Given the description of an element on the screen output the (x, y) to click on. 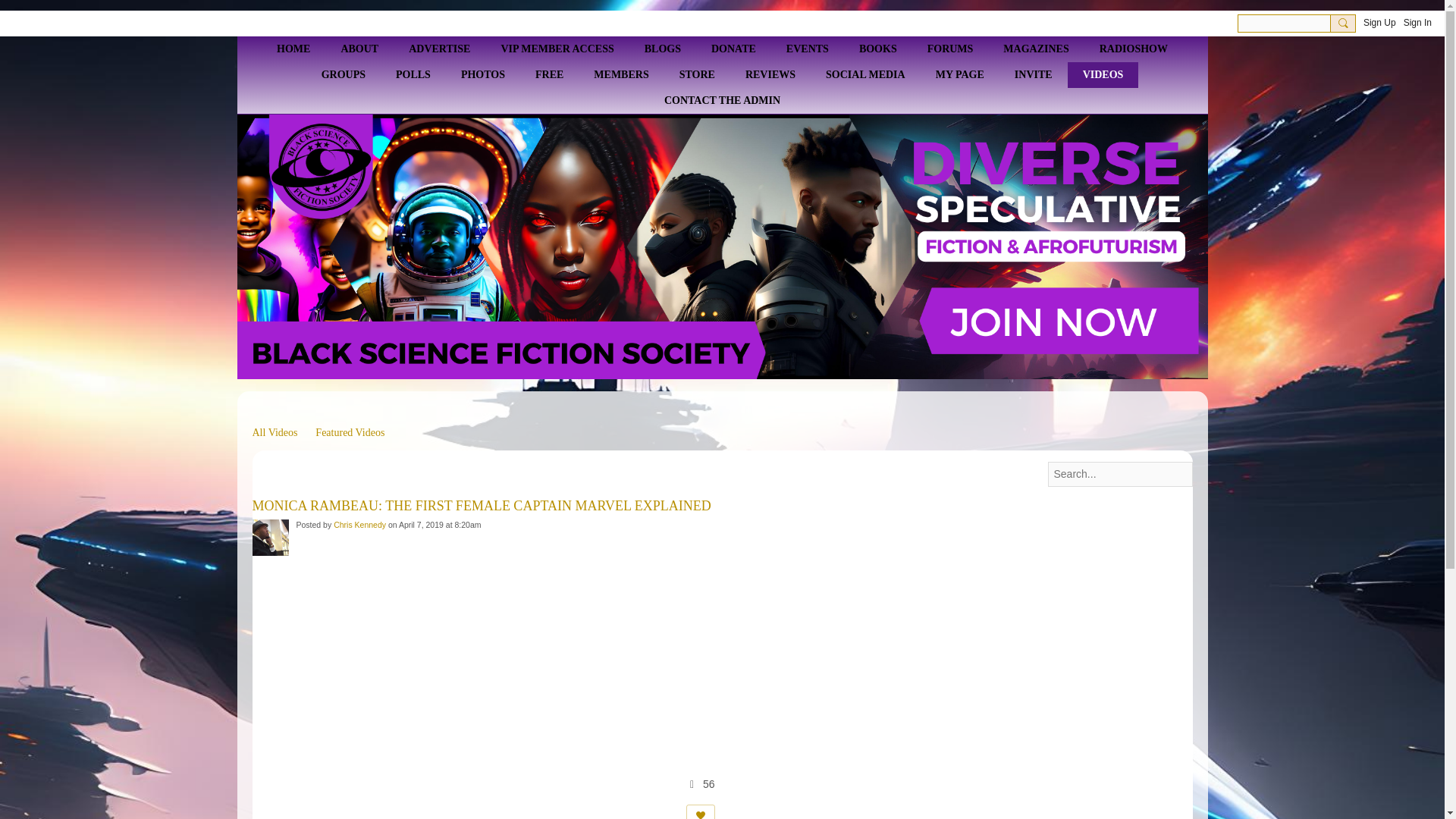
FREE (548, 74)
MAGAZINES (1035, 49)
RADIOSHOW (1133, 49)
FORUMS (950, 49)
Sign In (1417, 22)
Sign Up (1379, 22)
VIP MEMBER ACCESS (556, 49)
EVENTS (807, 49)
GROUPS (342, 74)
DONATE (733, 49)
BOOKS (878, 49)
PHOTOS (482, 74)
HOME (293, 49)
POLLS (412, 74)
ADVERTISE (438, 49)
